Given the description of an element on the screen output the (x, y) to click on. 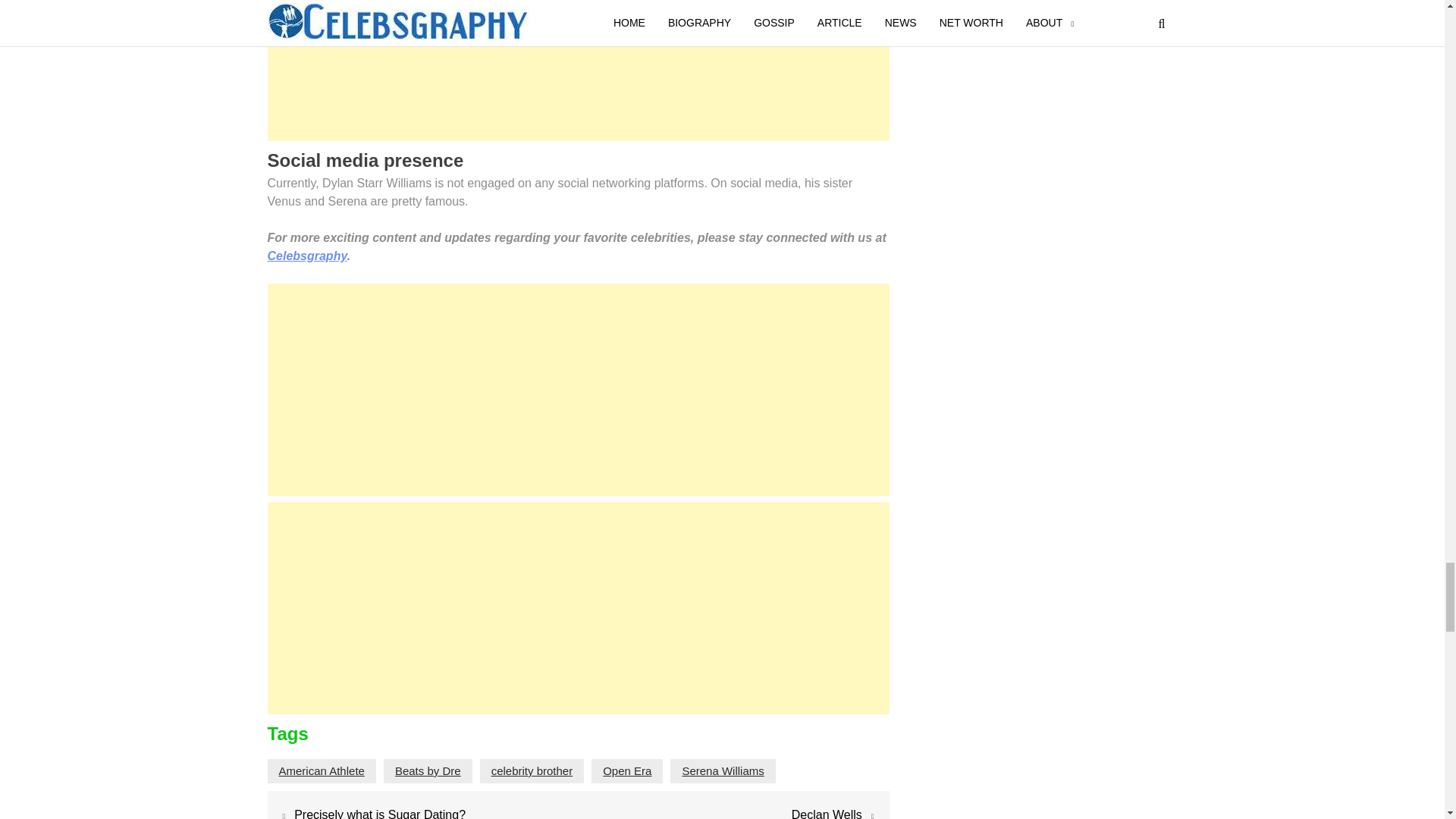
Celebsgraphy (306, 255)
Beats by Dre (427, 770)
American Athlete (322, 770)
